Given the description of an element on the screen output the (x, y) to click on. 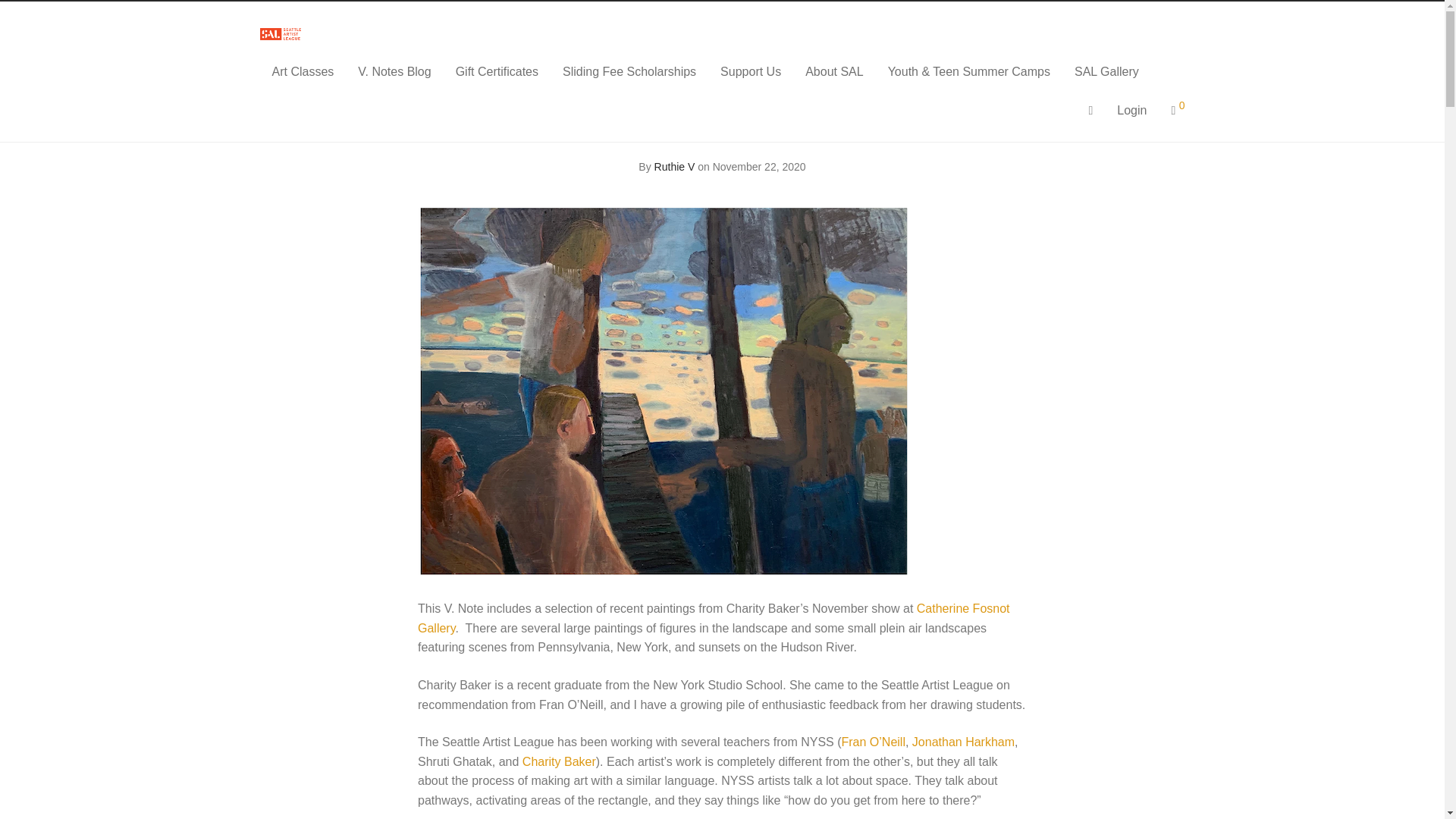
Gift Certificates (497, 72)
Posts by Ruthie V (674, 166)
0 (1177, 110)
Charity Baker (558, 761)
SAL Gallery (1106, 72)
Ruthie V (674, 166)
Jonathan Harkham (963, 741)
About SAL (834, 72)
V. Notes Blog (394, 72)
Art Classes (302, 72)
